Given the description of an element on the screen output the (x, y) to click on. 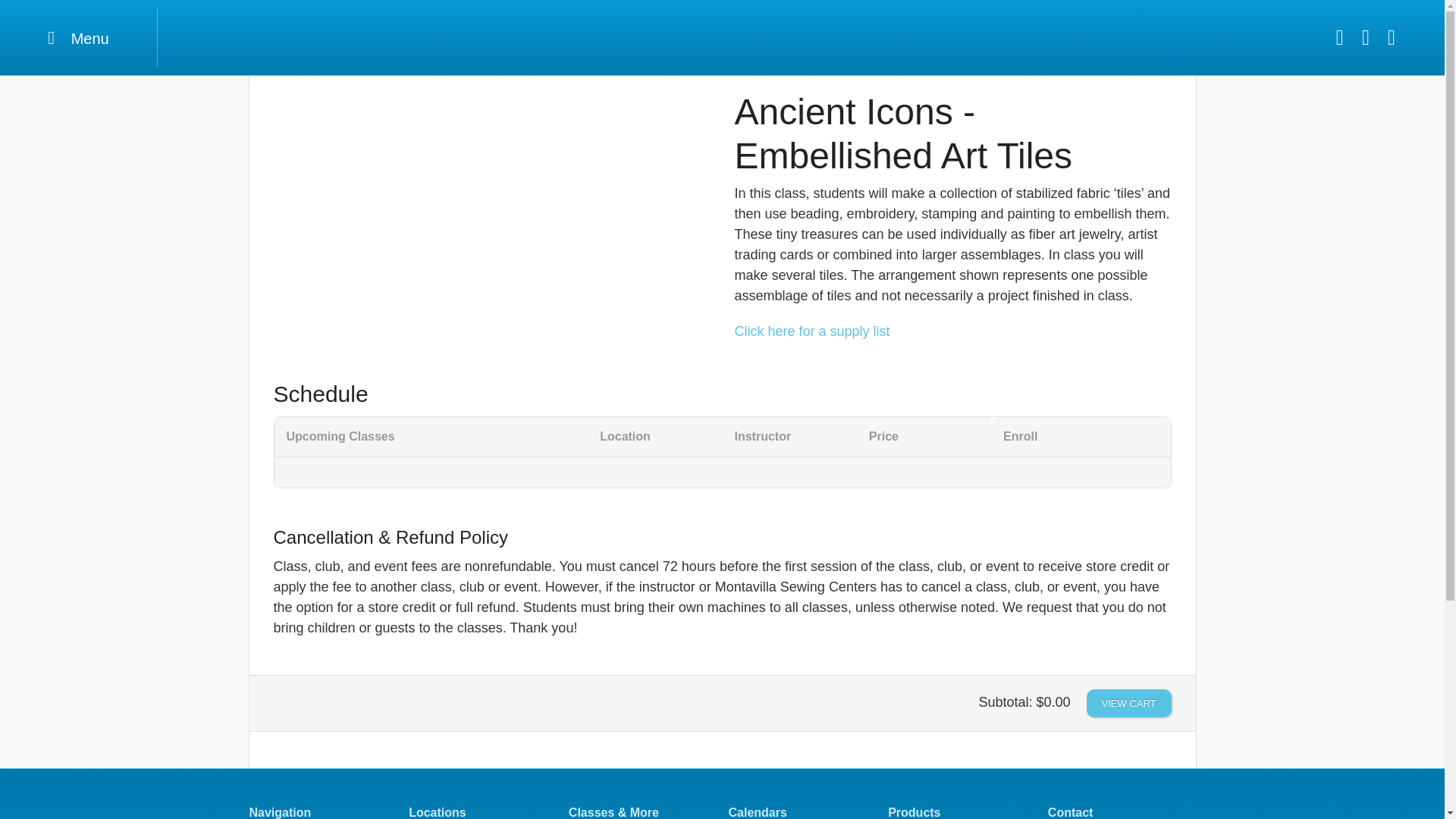
Menu (78, 37)
Click here for a supply list (811, 331)
VIEW CART (1128, 703)
